Given the description of an element on the screen output the (x, y) to click on. 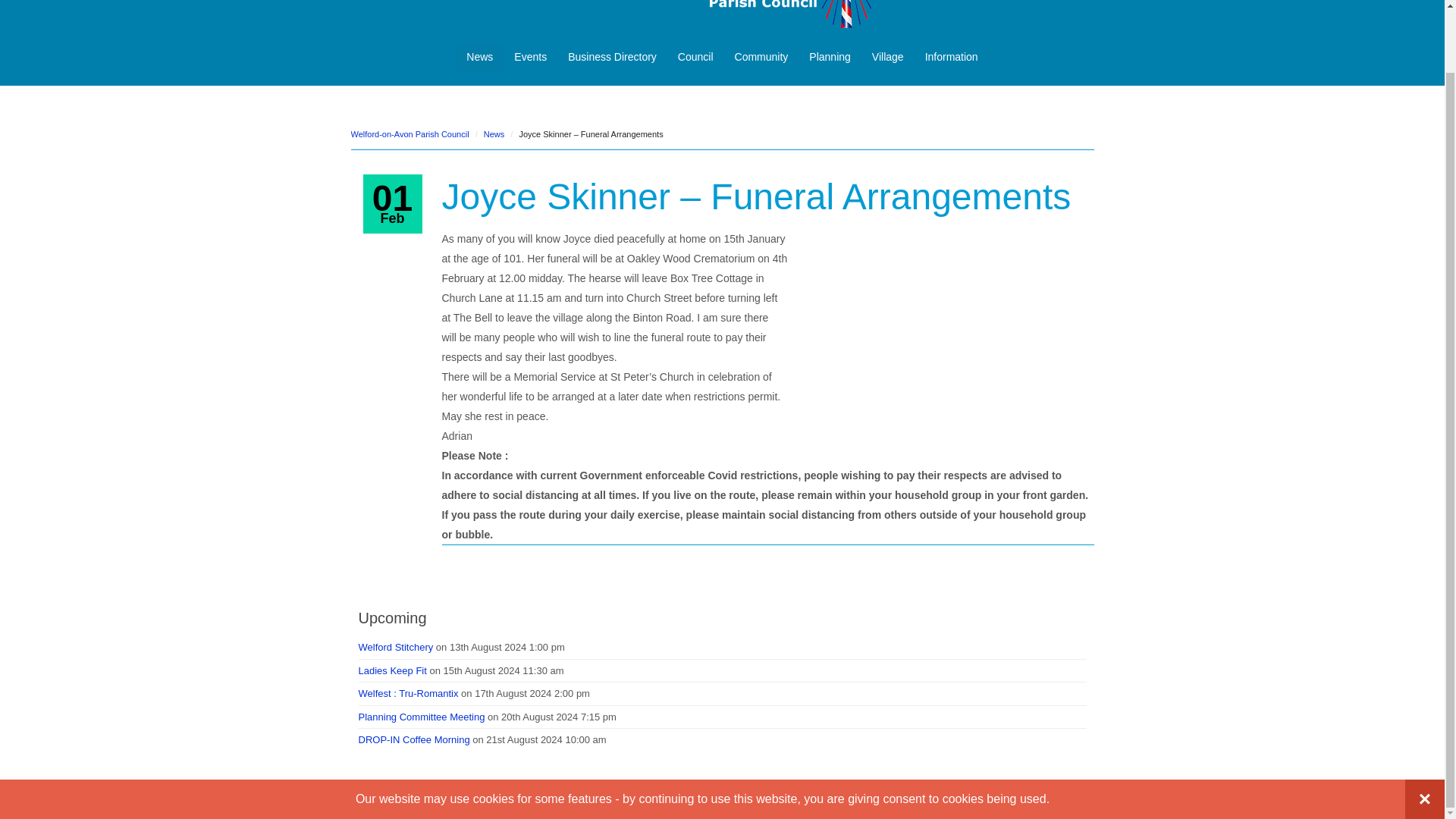
Council (694, 56)
Community (761, 56)
Events (530, 56)
Business Directory (611, 56)
News (479, 56)
